Given the description of an element on the screen output the (x, y) to click on. 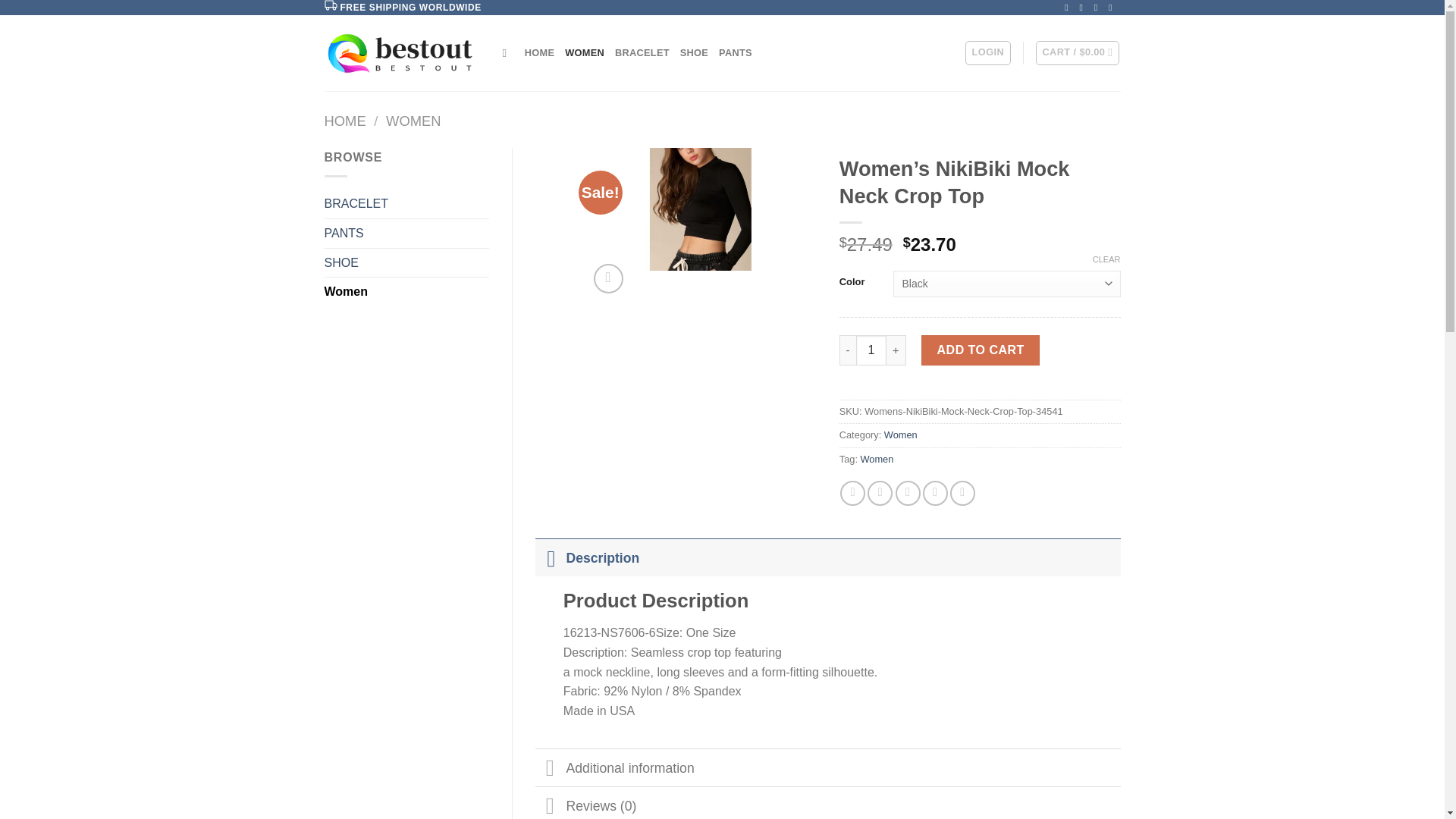
Share on Facebook (852, 493)
ADD TO CART (980, 349)
Women (876, 459)
WOMEN (584, 52)
Zoom (608, 278)
Description (828, 557)
CLEAR (1107, 258)
PANTS (406, 233)
BRACELET (641, 52)
16213-NS7606-6.jpg (700, 209)
WOMEN (413, 120)
Share on Twitter (879, 493)
BESTOUTDOORTOYS (402, 53)
Women (406, 291)
1 (871, 349)
